Given the description of an element on the screen output the (x, y) to click on. 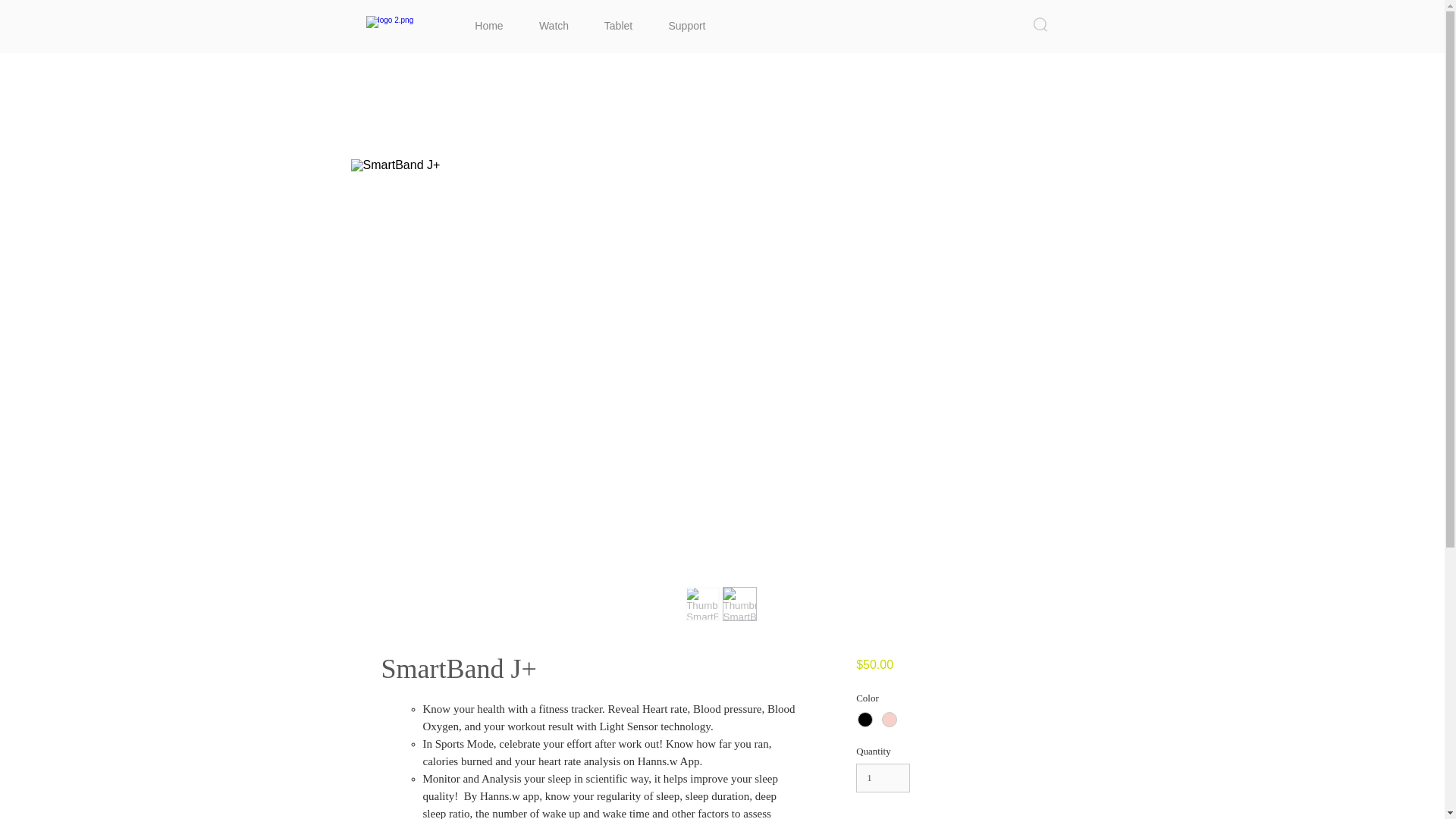
Support (686, 18)
Tablet (618, 18)
Home (489, 18)
Watch (553, 18)
1 (883, 777)
